Given the description of an element on the screen output the (x, y) to click on. 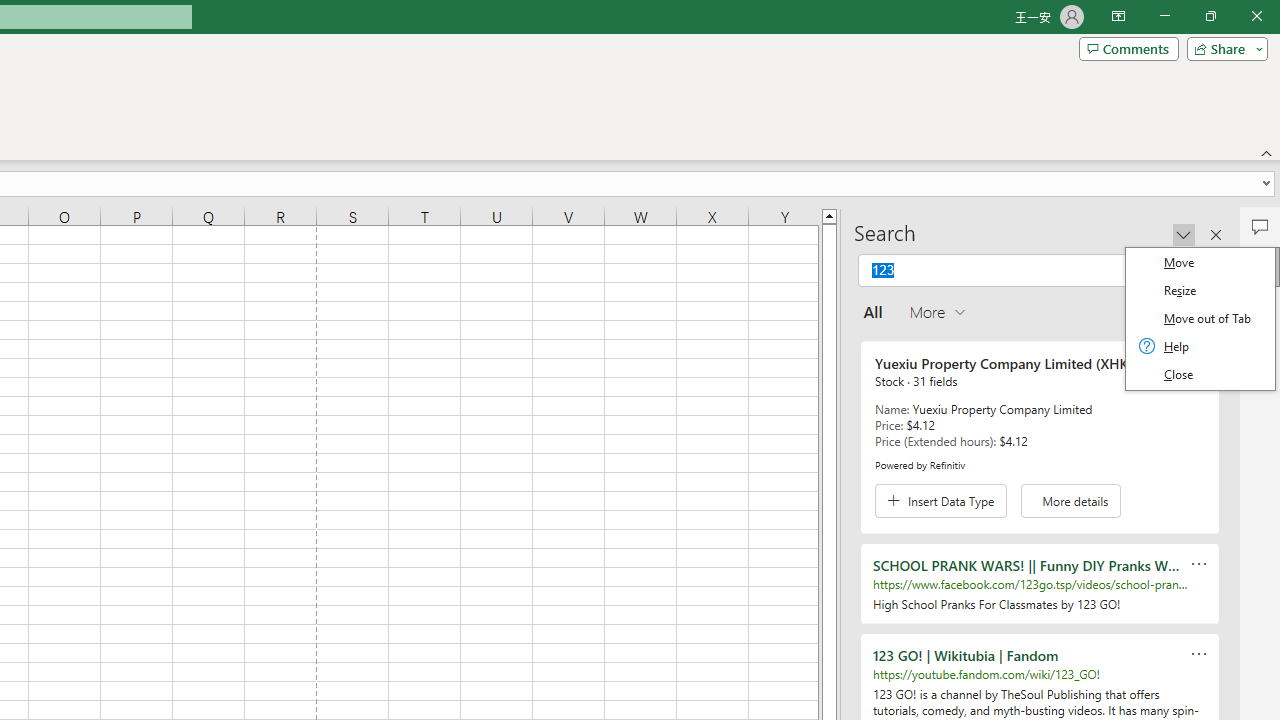
Class: Net UI Tool Window (1200, 318)
